Given the description of an element on the screen output the (x, y) to click on. 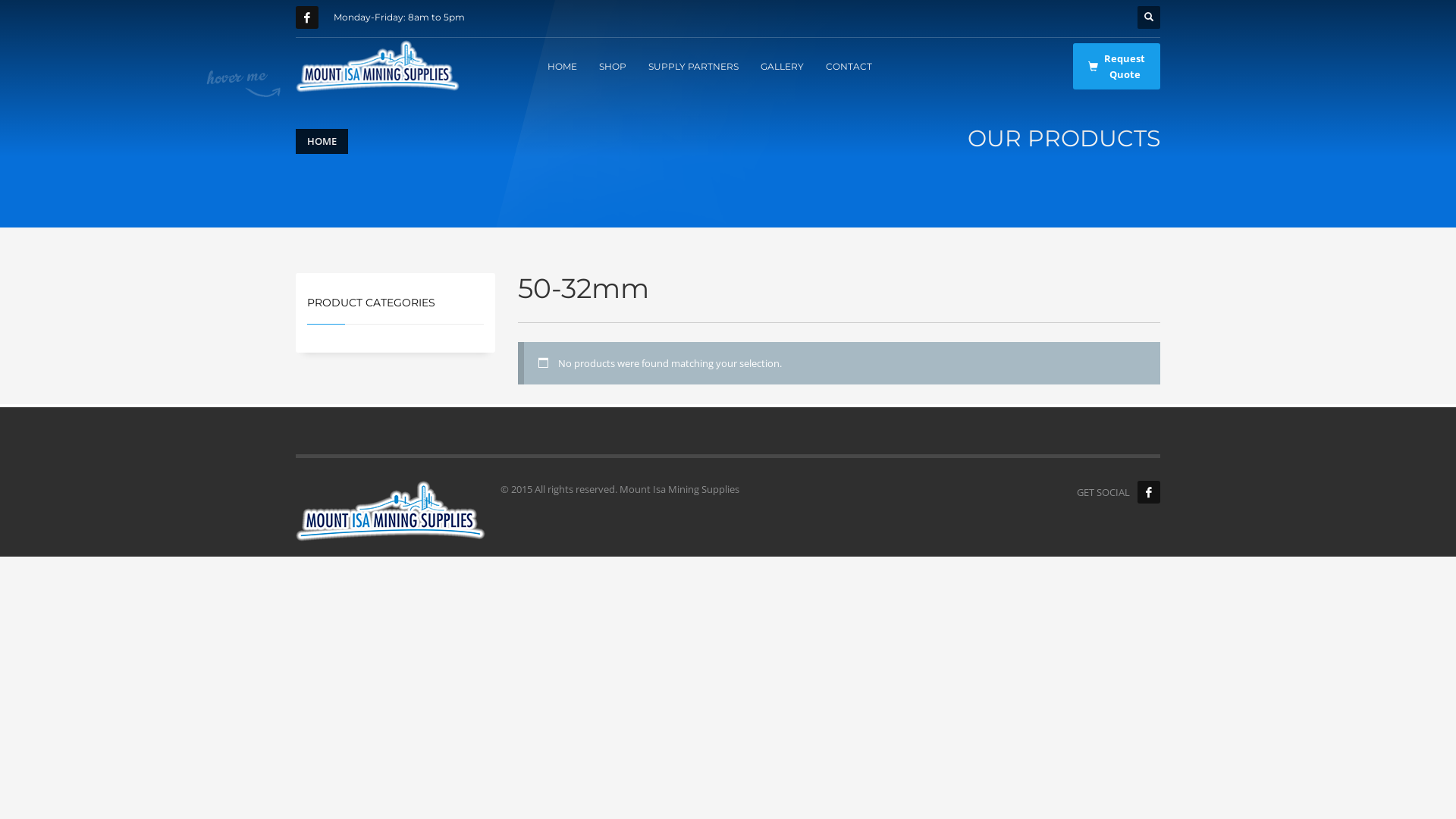
Request
Quote Element type: text (1116, 66)
SUPPLY PARTNERS Element type: text (693, 65)
HOME Element type: text (562, 65)
Like us on Facebook! Element type: hover (1148, 491)
GALLERY Element type: text (781, 65)
SHOP Element type: text (612, 65)
Service without compromise Element type: hover (377, 66)
CONTACT Element type: text (848, 65)
HOME Element type: text (321, 140)
Facebook Element type: hover (306, 17)
